Given the description of an element on the screen output the (x, y) to click on. 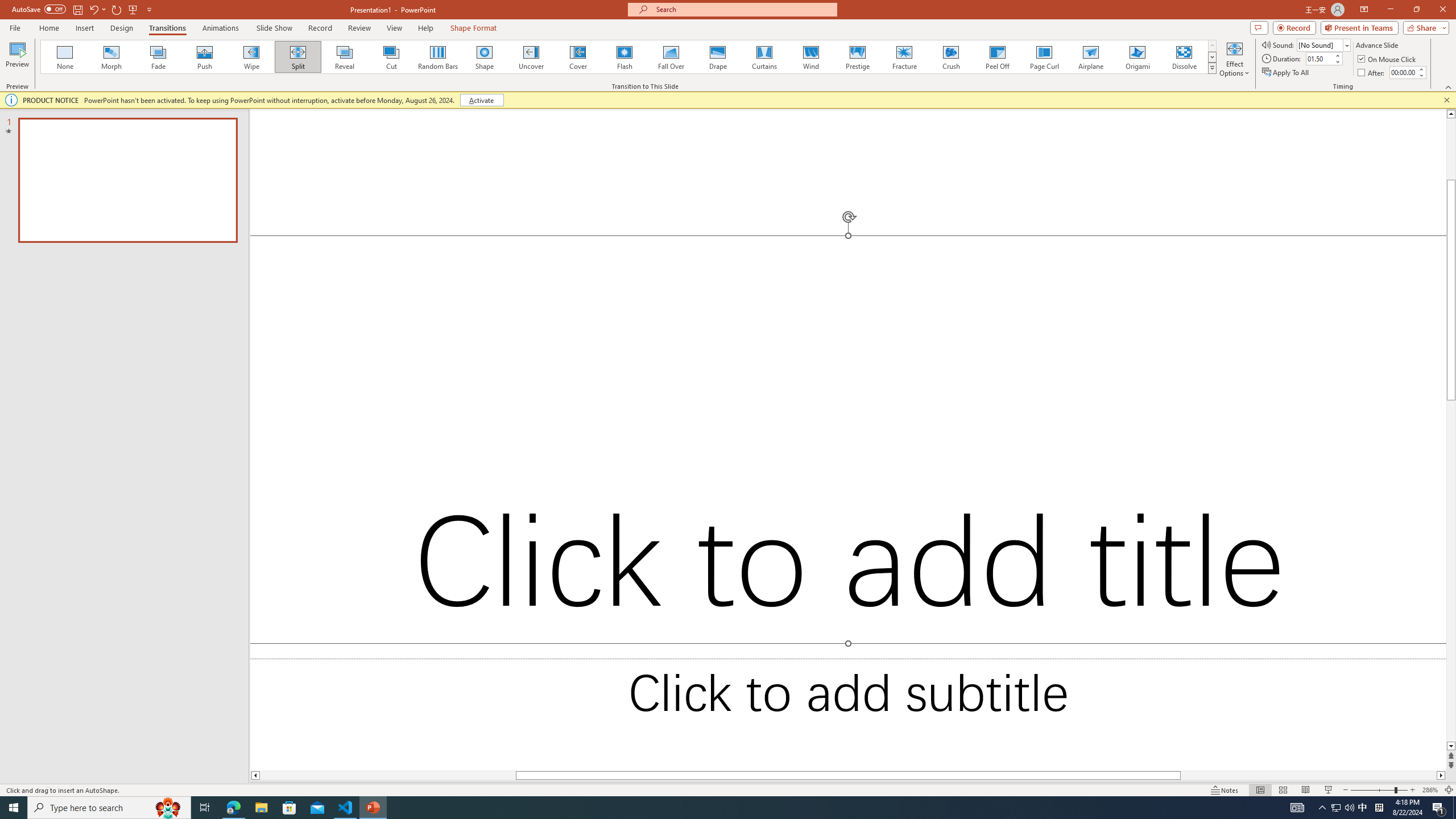
After (1403, 72)
After (1372, 72)
Wipe (251, 56)
Activate (481, 100)
Morph (111, 56)
